Given the description of an element on the screen output the (x, y) to click on. 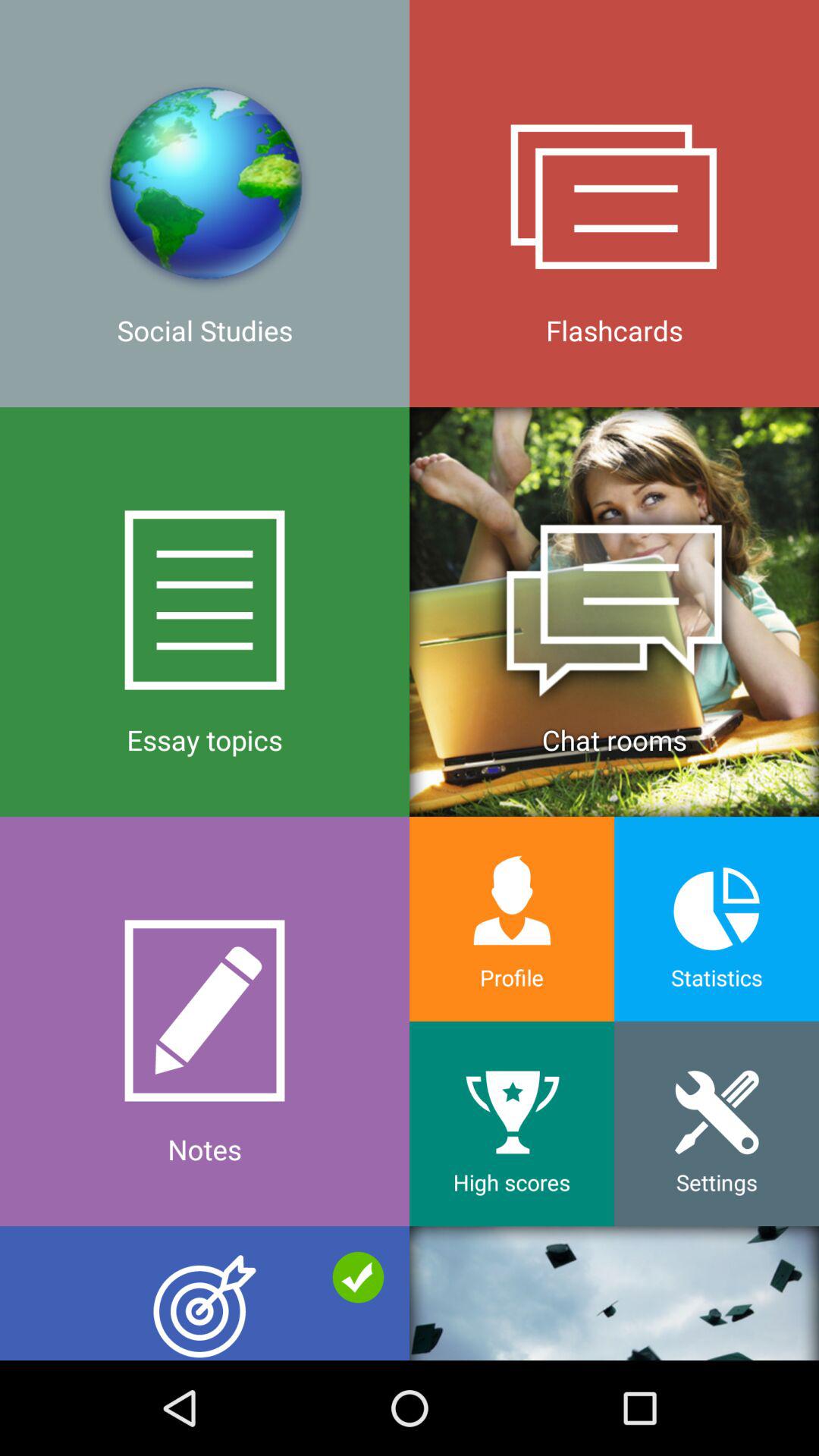
launch icon above high scores item (511, 918)
